Given the description of an element on the screen output the (x, y) to click on. 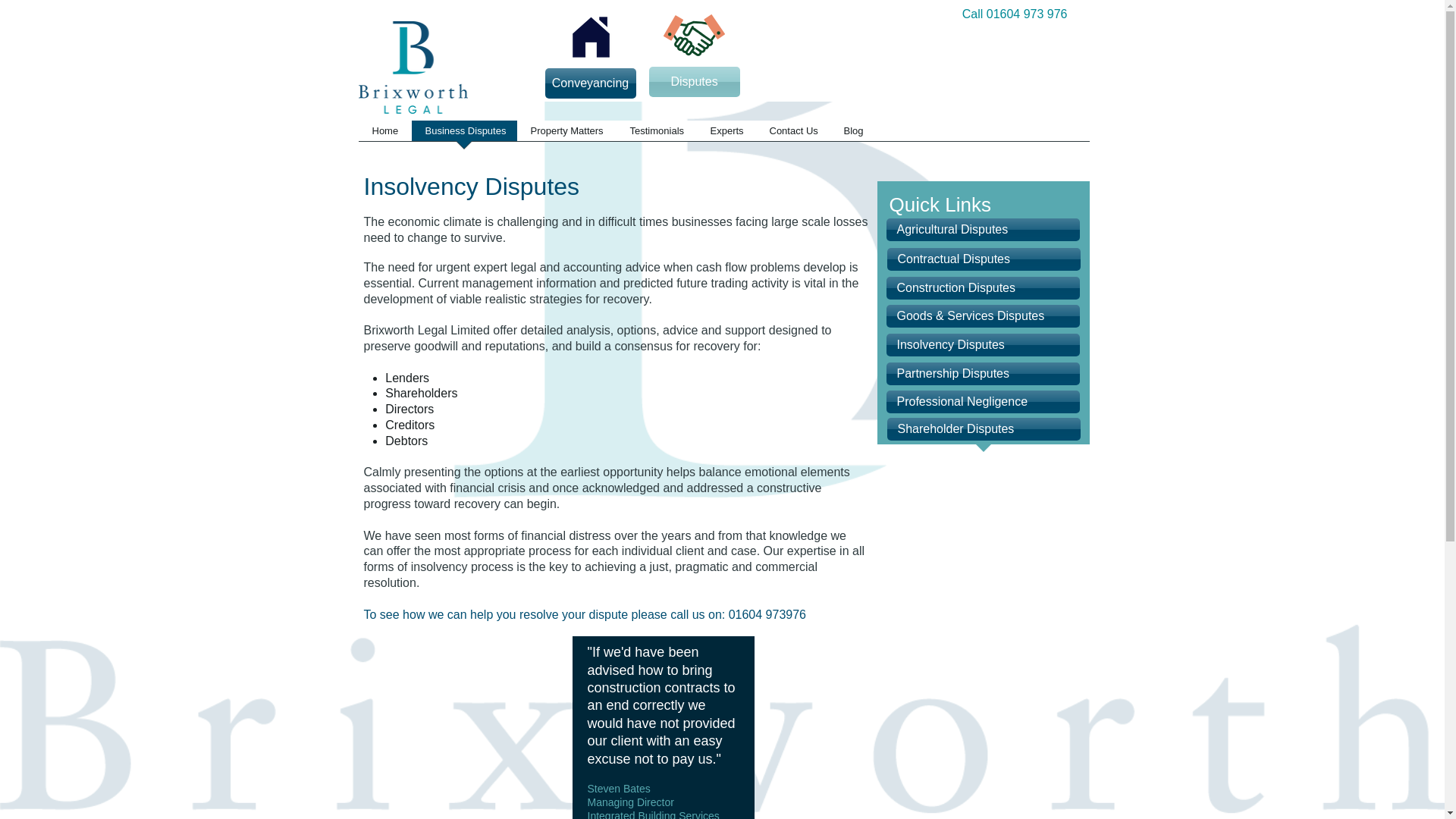
Disputes (694, 81)
Partnership Disputes (981, 373)
Conveyancing (589, 82)
Business Disputes (463, 135)
Blog (852, 135)
Testimonials (655, 135)
Home (384, 135)
Insolvency Disputes (981, 344)
Construction Disputes (981, 287)
Agricultural Disputes (981, 229)
Experts (725, 135)
Shareholder Disputes (983, 428)
Professional Negligence (981, 401)
Contractual Disputes (983, 259)
Brixworth Legal Homepage (412, 67)
